Given the description of an element on the screen output the (x, y) to click on. 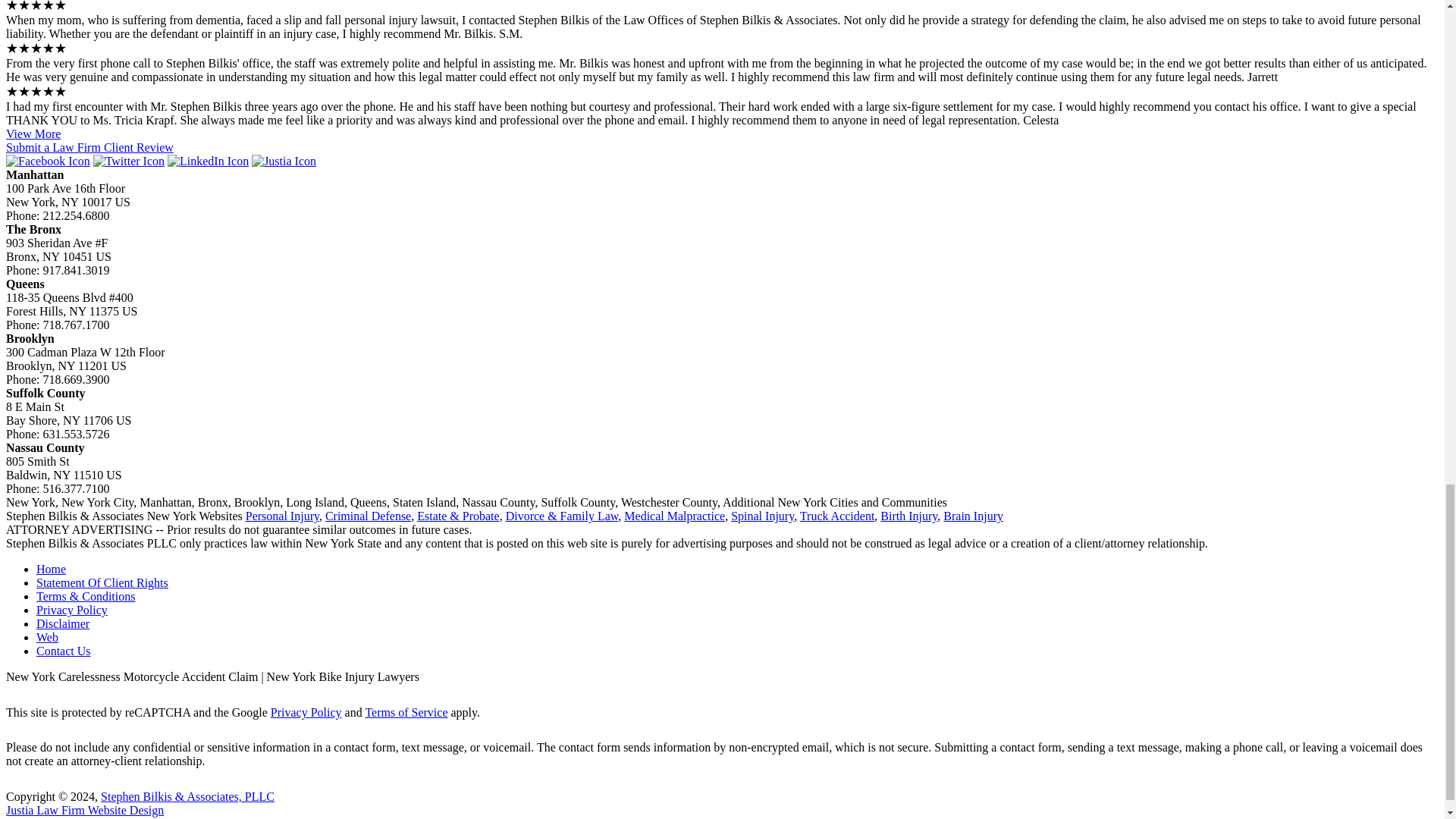
Facebook (47, 160)
Justia (283, 160)
LinkedIn (207, 160)
Twitter (128, 160)
